Given the description of an element on the screen output the (x, y) to click on. 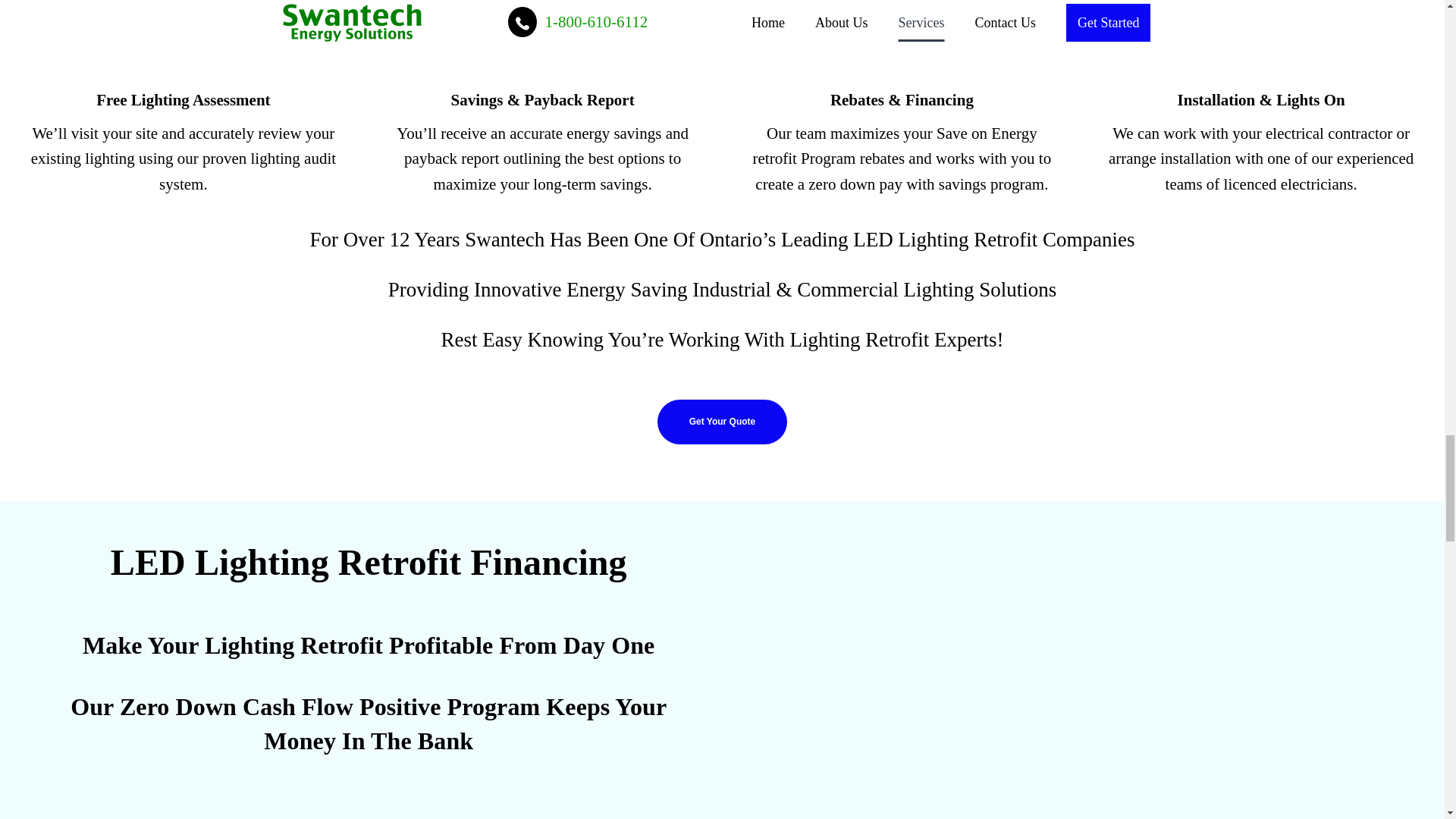
Get Your Quote (722, 421)
